Given the description of an element on the screen output the (x, y) to click on. 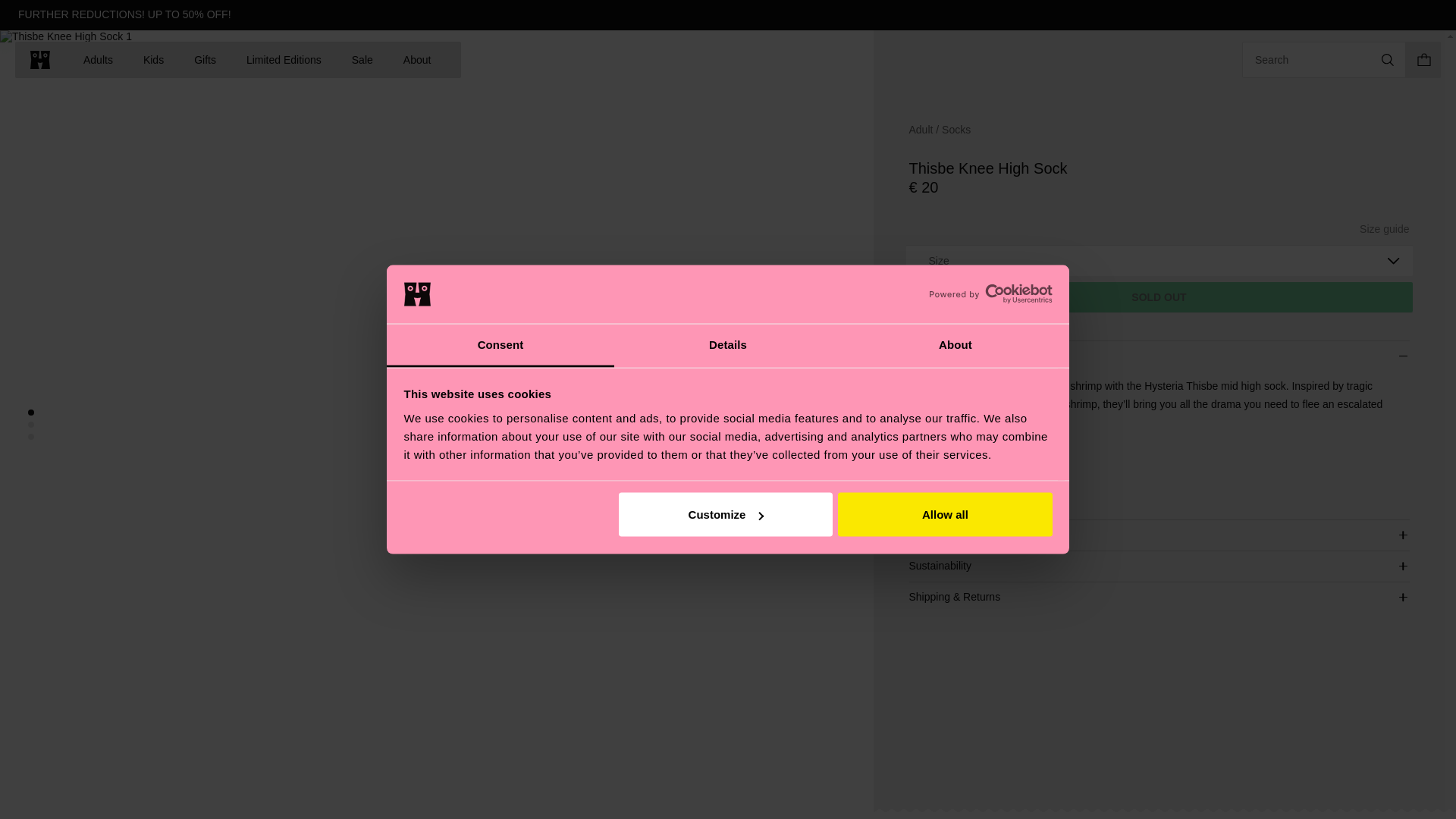
Consent (500, 344)
About (954, 344)
Details (727, 344)
